Given the description of an element on the screen output the (x, y) to click on. 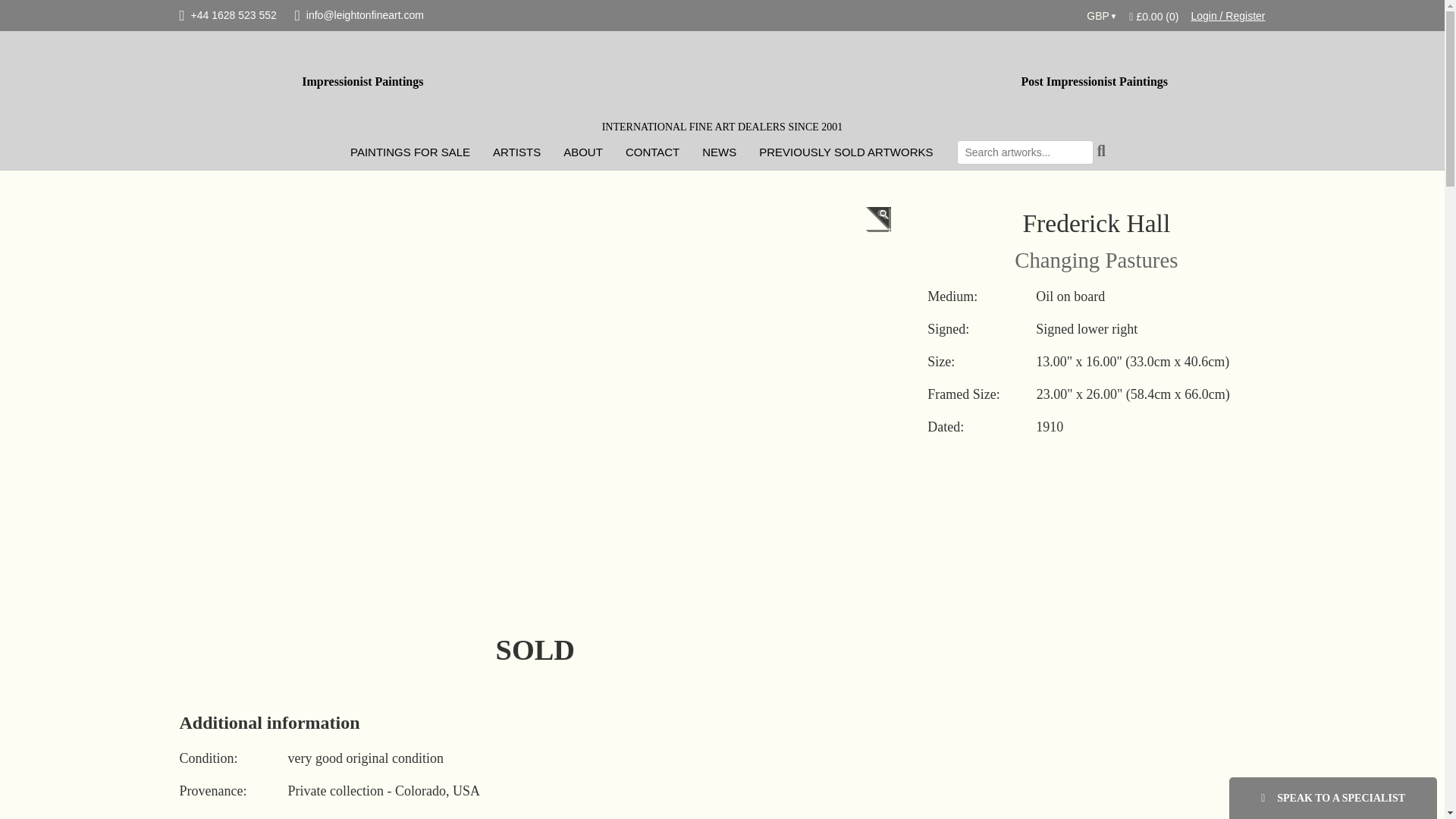
Post Impressionist Paintings (1093, 82)
PAINTINGS FOR SALE (410, 151)
Impressionist Paintings (362, 82)
ARTISTS (516, 151)
CONTACT (652, 151)
PREVIOUSLY SOLD ARTWORKS (845, 151)
ABOUT (582, 151)
SPEAK TO A SPECIALIST (1332, 798)
NEWS (719, 151)
Frederick Hall (1096, 223)
